Given the description of an element on the screen output the (x, y) to click on. 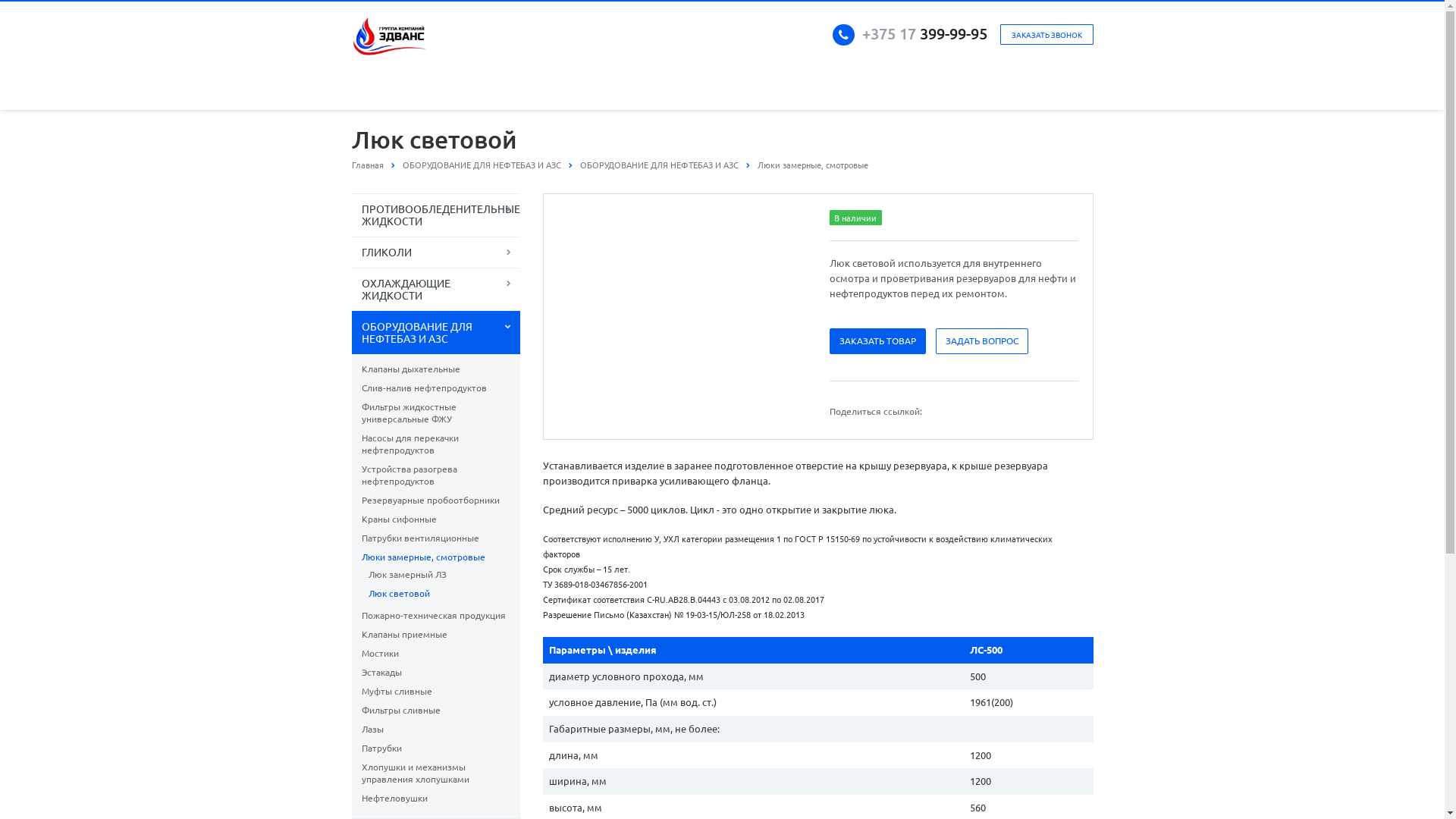
neftehim.by Element type: hover (388, 36)
+375 17 399-99-95 Element type: text (923, 33)
